Given the description of an element on the screen output the (x, y) to click on. 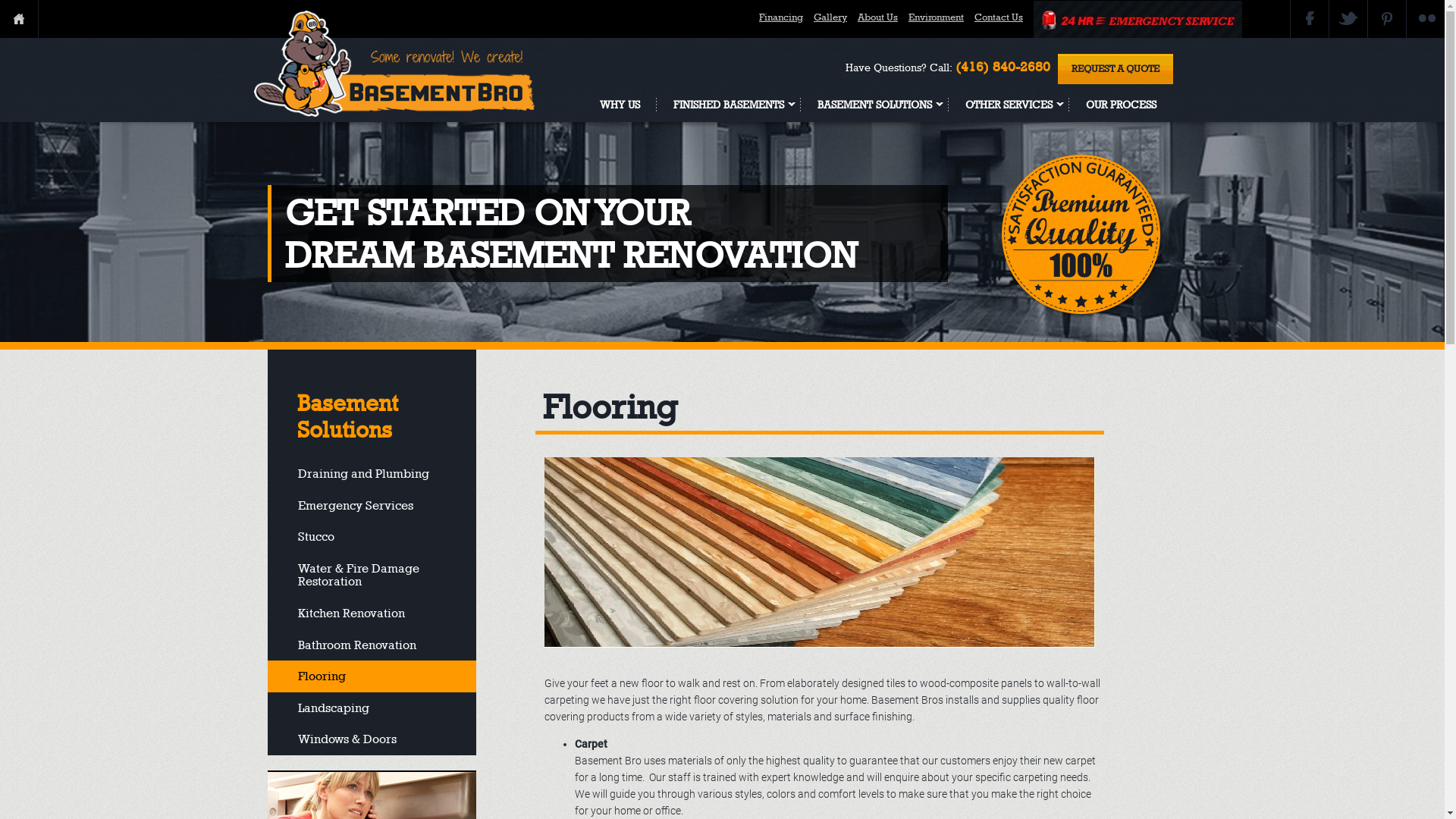
Bathroom Renovation Element type: text (370, 645)
REQUEST A QUOTE Element type: text (1114, 68)
Financing Element type: text (781, 16)
Gallery Element type: text (830, 16)
Flooring Element type: text (370, 676)
OTHER SERVICES Element type: text (1007, 104)
Emergency Services Element type: text (370, 505)
BASEMENT SOLUTIONS Element type: text (874, 104)
Stucco Element type: text (370, 536)
WHY US Element type: text (618, 104)
FINISHED BASEMENTS Element type: text (728, 104)
Contact Us Element type: text (998, 16)
Kitchen Renovation Element type: text (370, 613)
Environment Element type: text (935, 16)
Water & Fire Damage Restoration Element type: text (370, 574)
Draining and Plumbing Element type: text (370, 473)
Landscaping Element type: text (370, 708)
Windows & Doors Element type: text (370, 739)
OUR PROCESS Element type: text (1120, 104)
About Us Element type: text (877, 16)
